Given the description of an element on the screen output the (x, y) to click on. 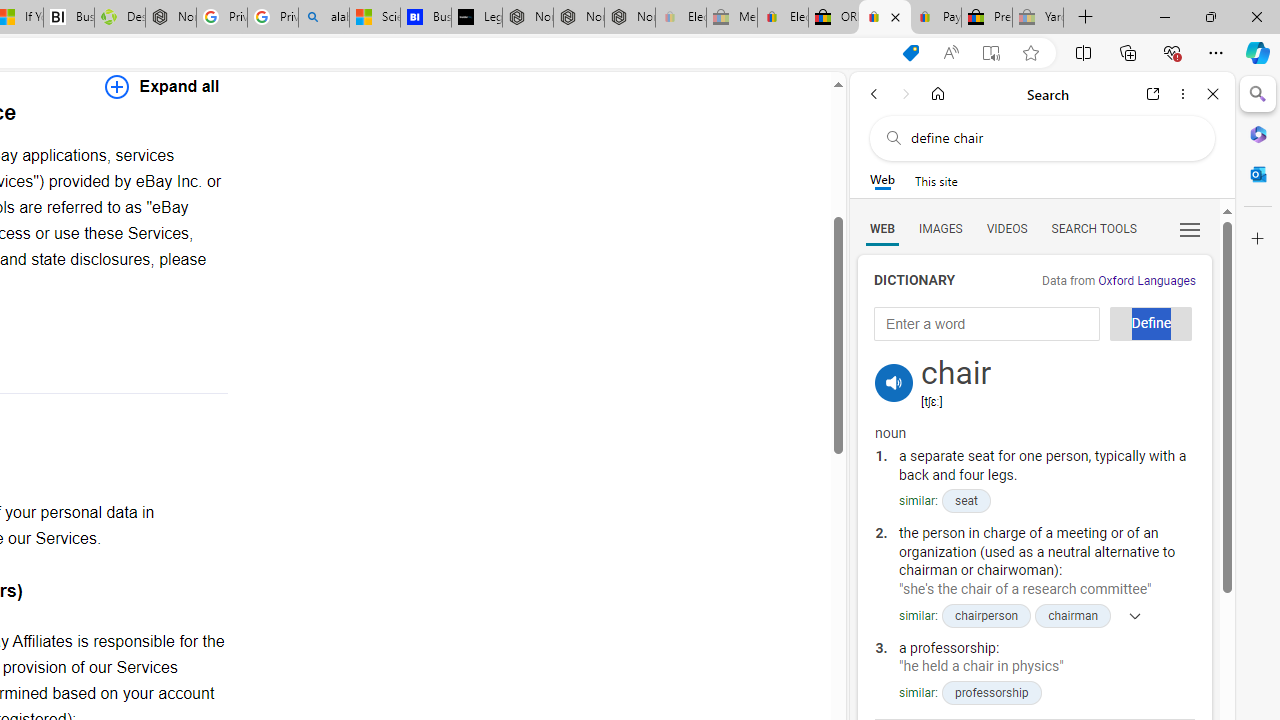
Define (1150, 323)
pronounce (893, 382)
professorship (990, 691)
Oxford Languages (1146, 281)
Show more (1129, 615)
